Given the description of an element on the screen output the (x, y) to click on. 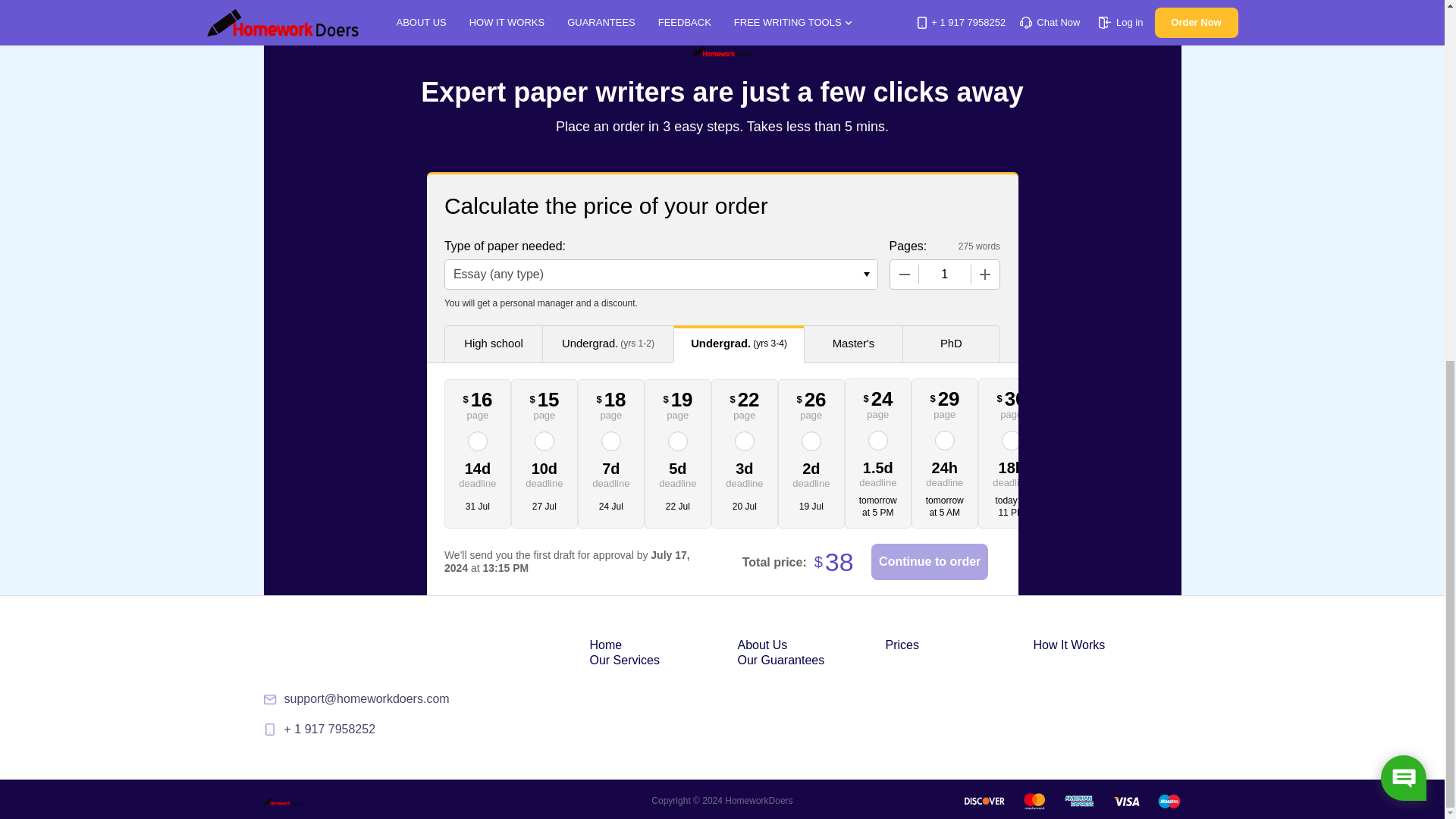
Home (606, 645)
Continue to order (929, 561)
How It Works (1068, 645)
14 days (477, 473)
1 (944, 274)
Decrease (903, 274)
5 days (677, 473)
18 hours (1011, 472)
10 days (544, 473)
7 days (611, 473)
Our Guarantees (780, 660)
About Us (761, 645)
2 days (811, 473)
Prices (901, 645)
Our Services (624, 660)
